Given the description of an element on the screen output the (x, y) to click on. 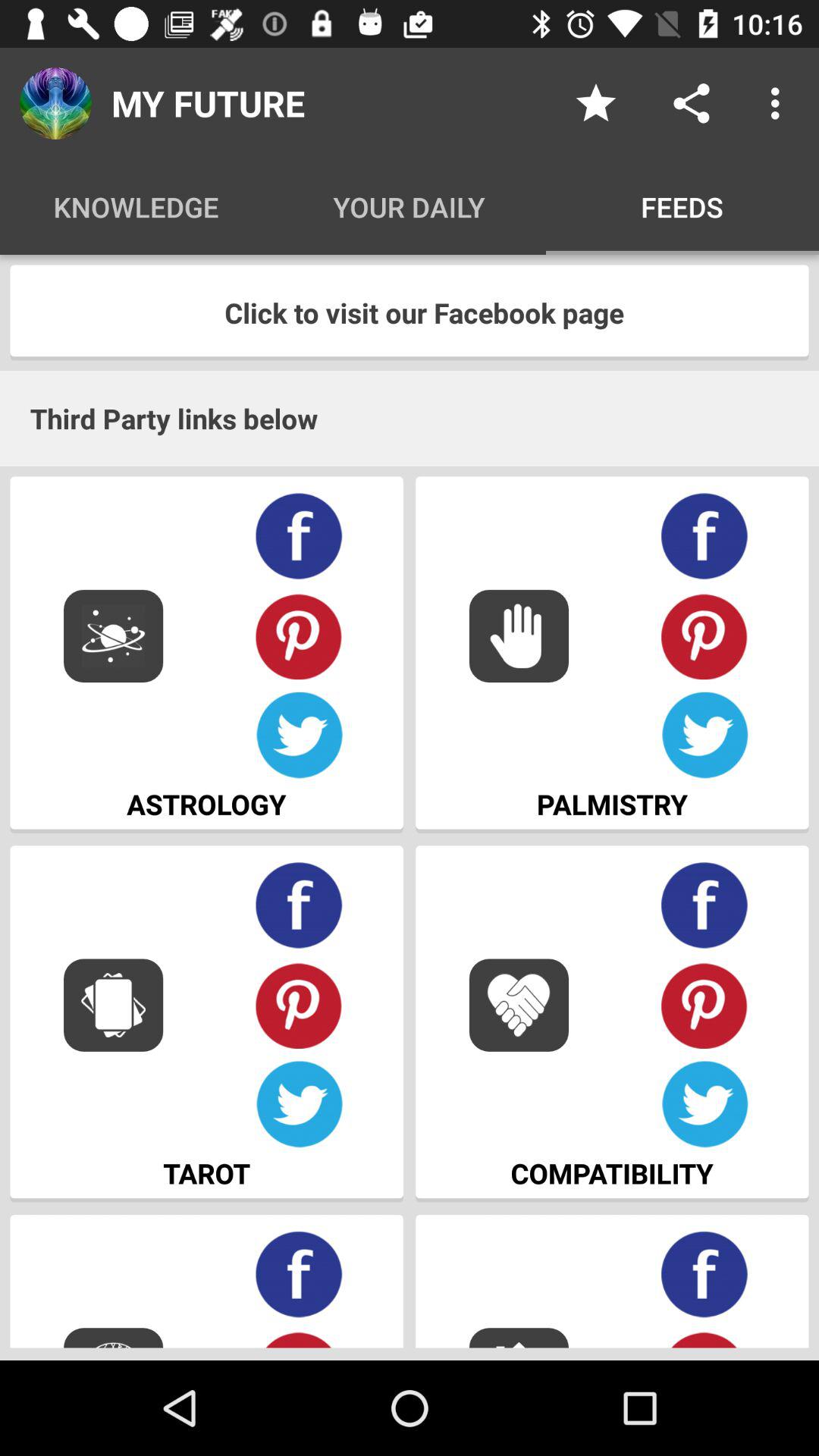
share on twitter (299, 735)
